Given the description of an element on the screen output the (x, y) to click on. 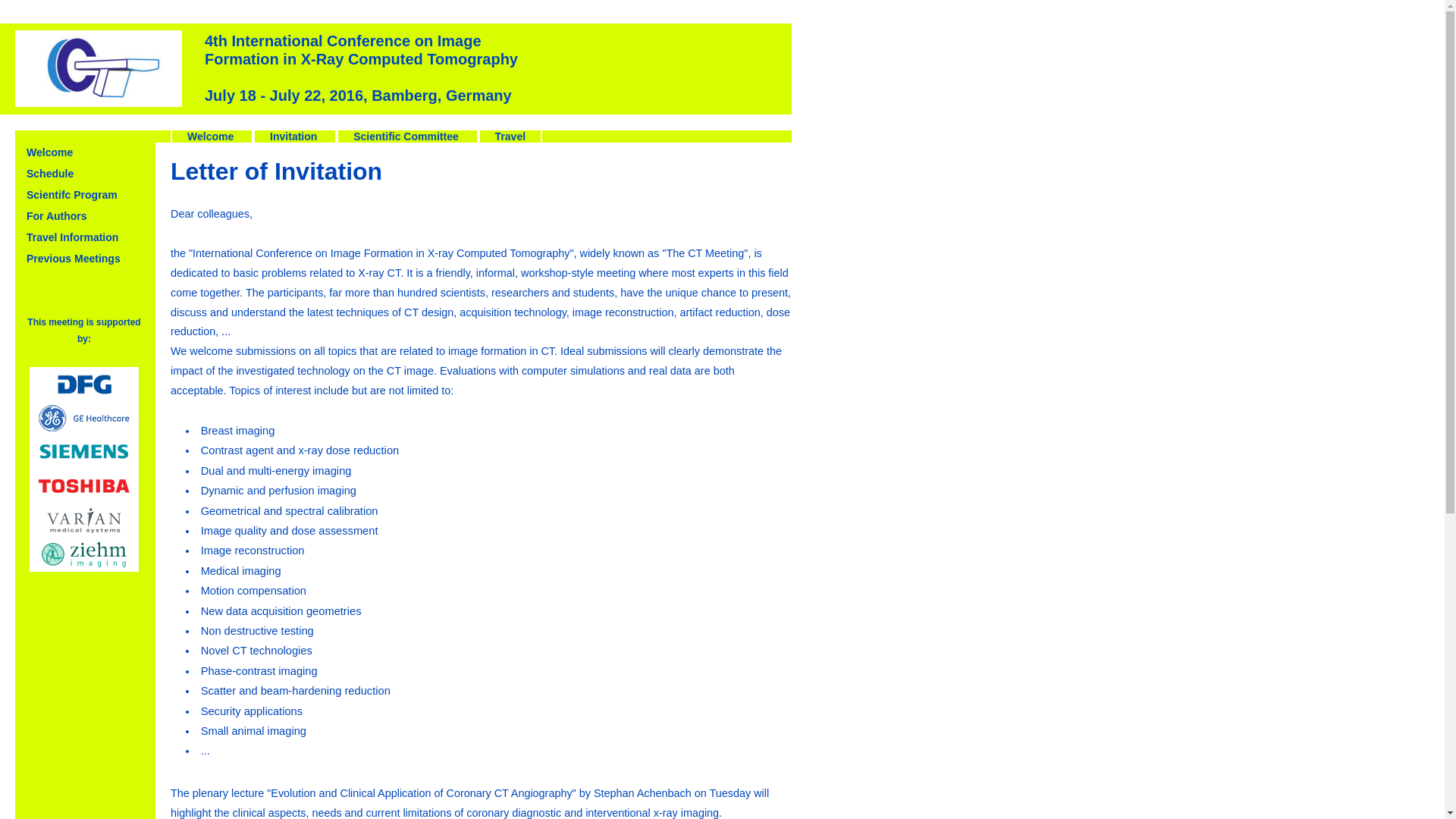
Logo DFG (84, 384)
Previous Meetings (73, 258)
Welcome (209, 136)
Letter of Invitation (293, 136)
Letter of Invitation (510, 136)
Ziehm Logo (84, 554)
Schedule (50, 173)
CT-Meeting 2016 (98, 68)
Scientific Committee (405, 136)
Travel (510, 136)
